Given the description of an element on the screen output the (x, y) to click on. 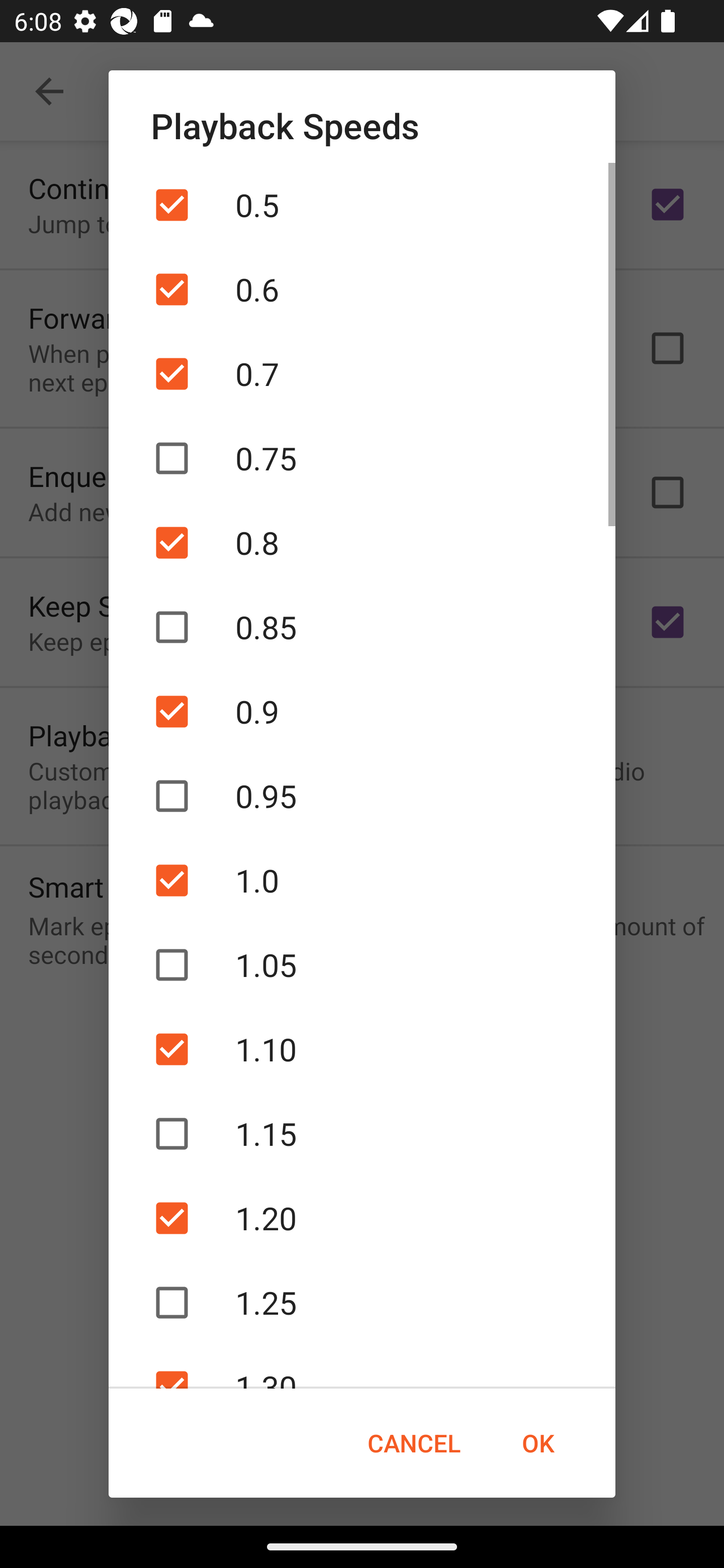
0.5 (361, 205)
0.6 (361, 289)
0.7 (361, 373)
0.75 (361, 457)
0.8 (361, 542)
0.85 (361, 626)
0.9 (361, 711)
0.95 (361, 796)
1.0 (361, 879)
1.05 (361, 963)
1.10 (361, 1048)
1.15 (361, 1133)
1.20 (361, 1218)
1.25 (361, 1302)
CANCEL (413, 1443)
OK (537, 1443)
